Given the description of an element on the screen output the (x, y) to click on. 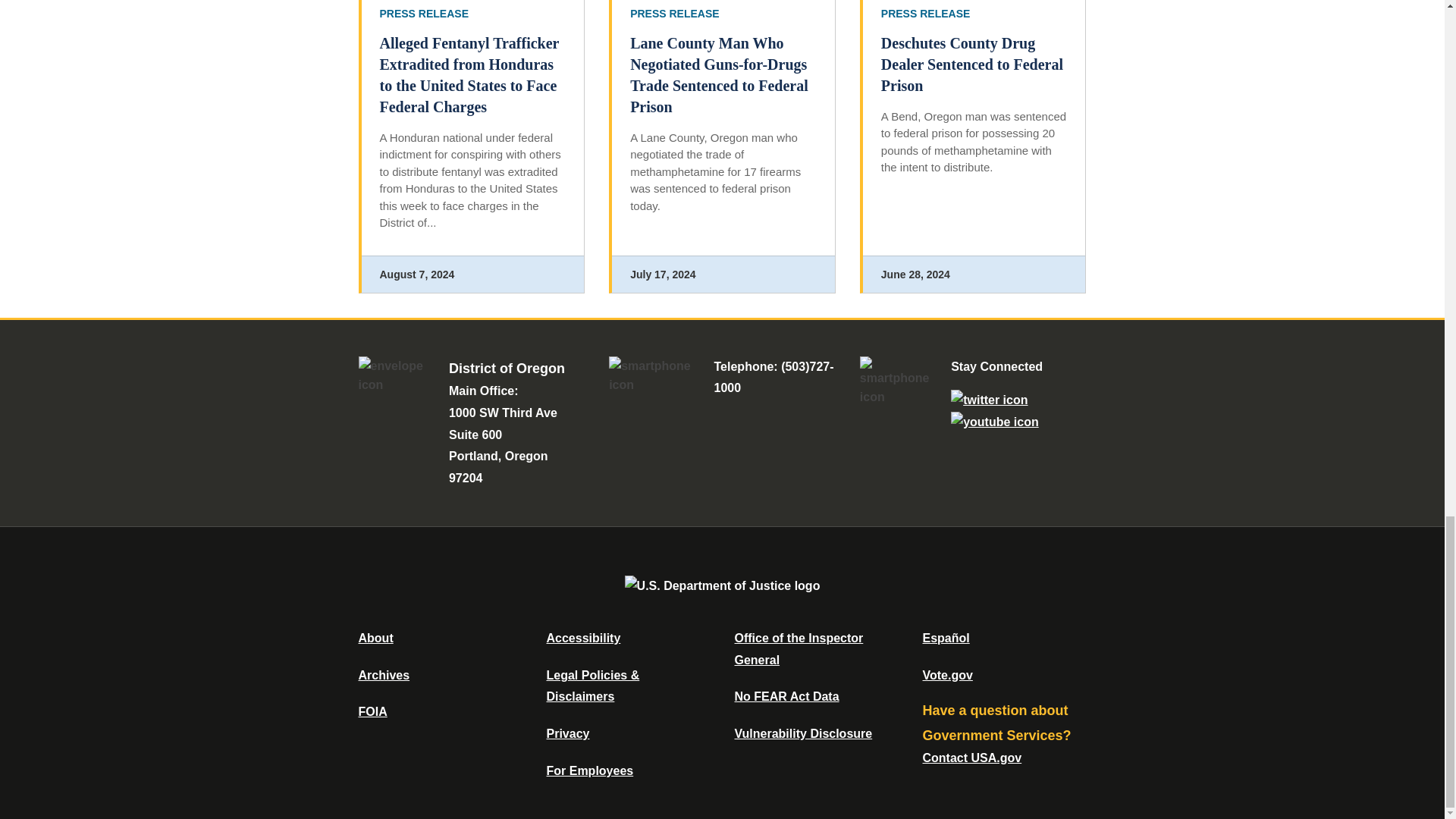
About DOJ (375, 637)
For Employees (589, 770)
Data Posted Pursuant To The No Fear Act (785, 696)
Legal Policies and Disclaimers (592, 686)
Department of Justice Archive (383, 675)
Office of Information Policy (372, 711)
Accessibility Statement (583, 637)
